Given the description of an element on the screen output the (x, y) to click on. 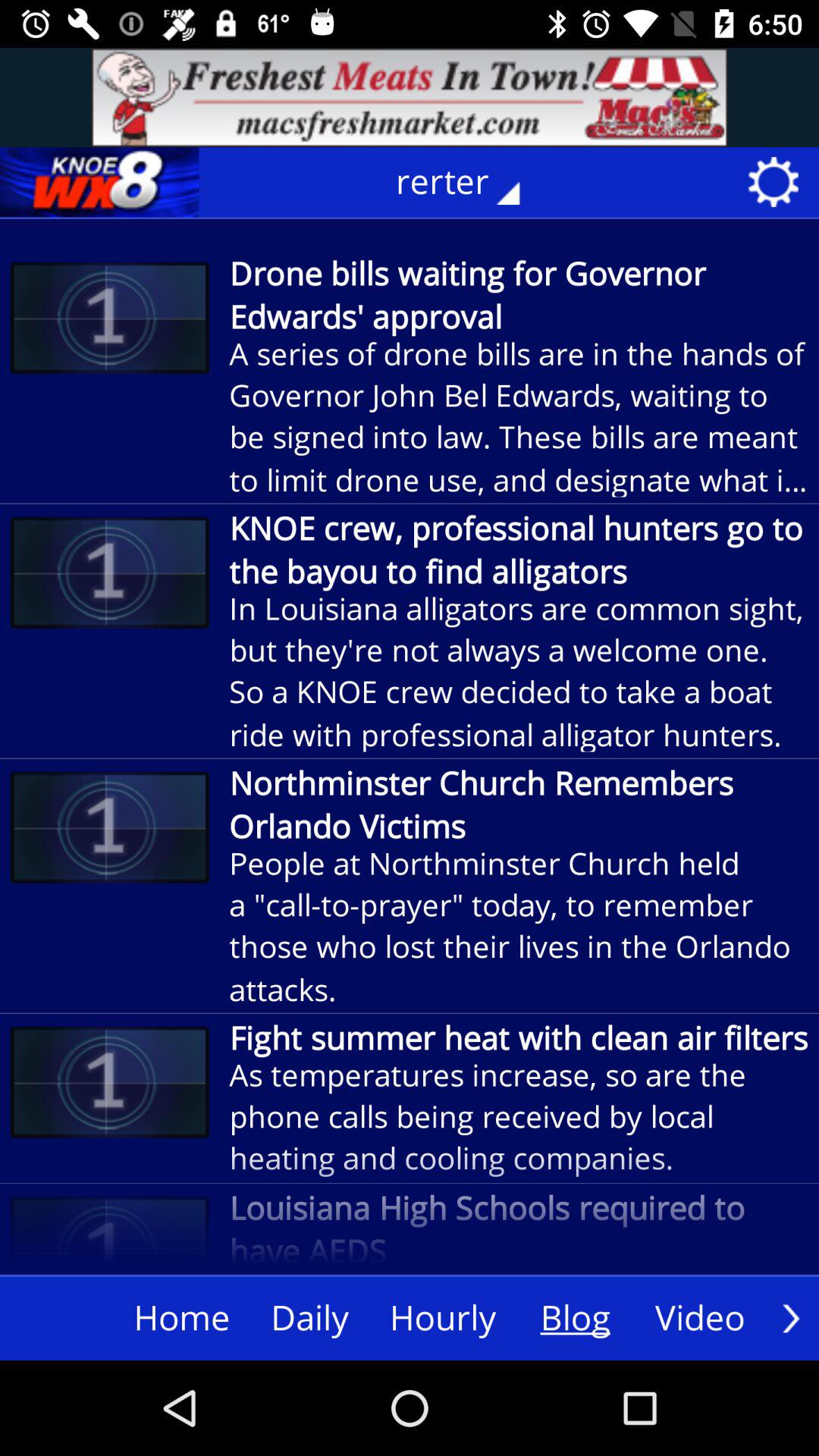
additional options button (791, 1318)
